Given the description of an element on the screen output the (x, y) to click on. 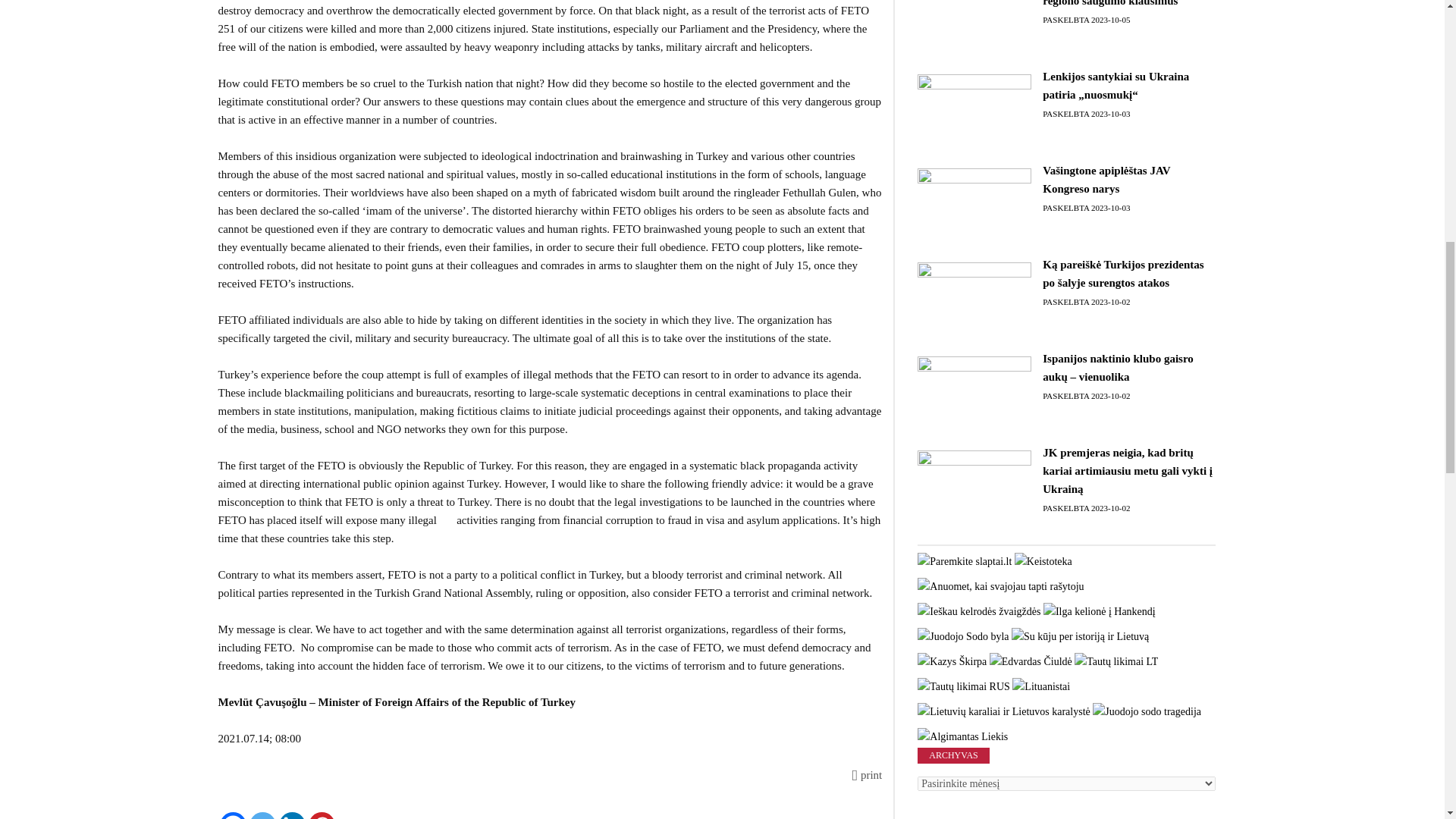
Linkedin (292, 815)
Twitter (261, 815)
Pinterest (320, 815)
Facebook (232, 815)
